Given the description of an element on the screen output the (x, y) to click on. 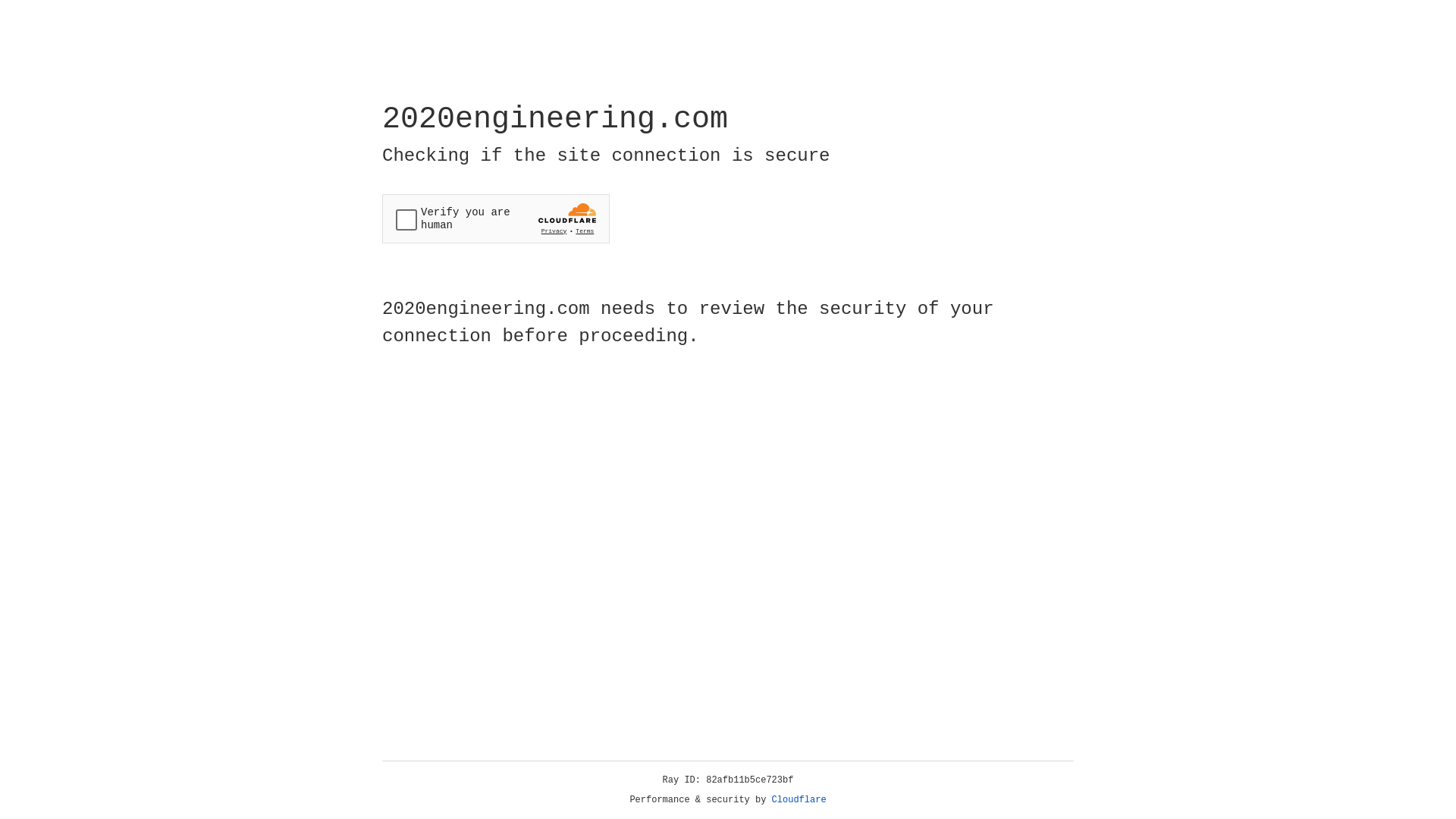
Cloudflare Element type: text (798, 799)
Widget containing a Cloudflare security challenge Element type: hover (495, 218)
